Given the description of an element on the screen output the (x, y) to click on. 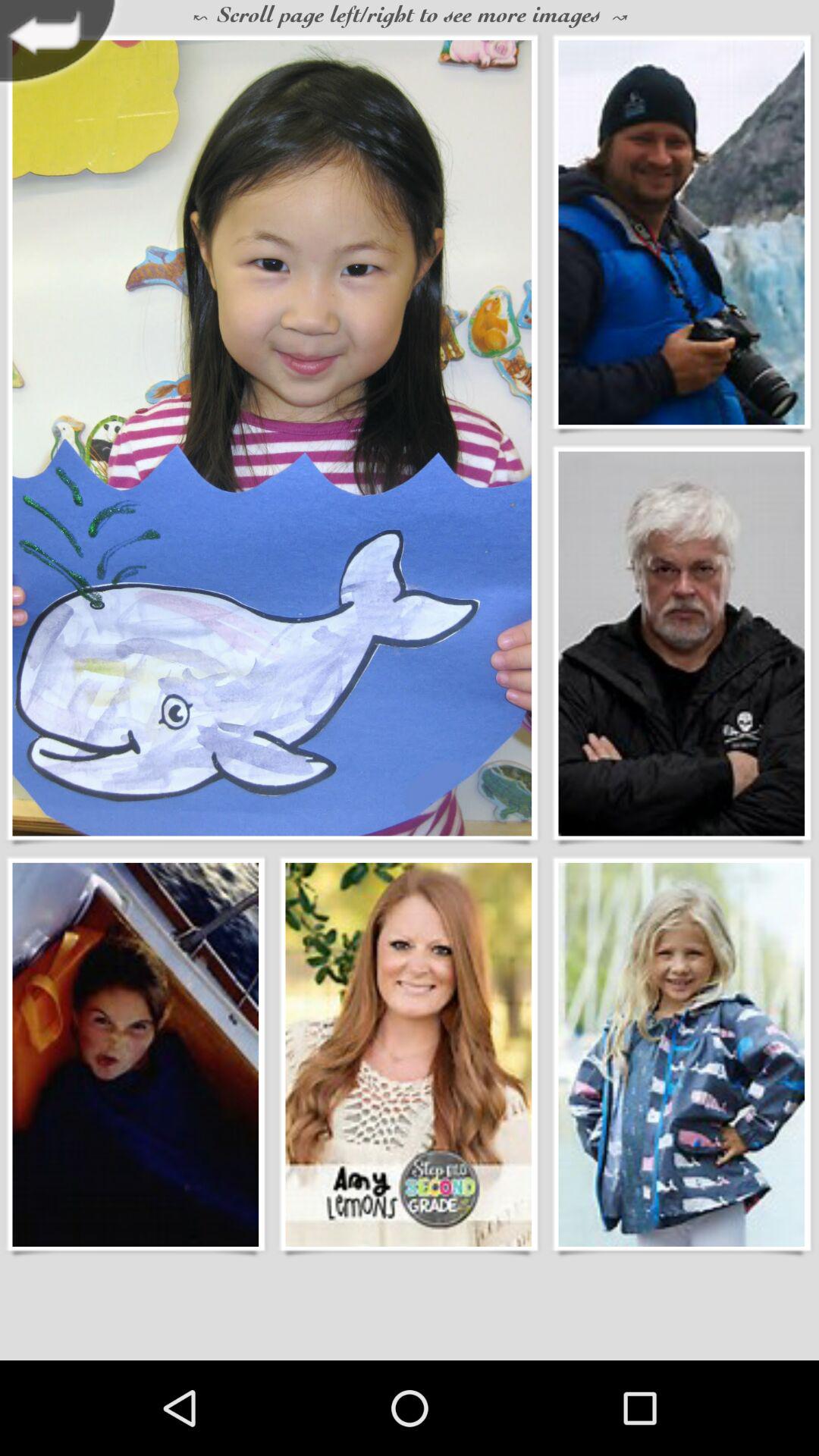
view this photo (271, 438)
